Given the description of an element on the screen output the (x, y) to click on. 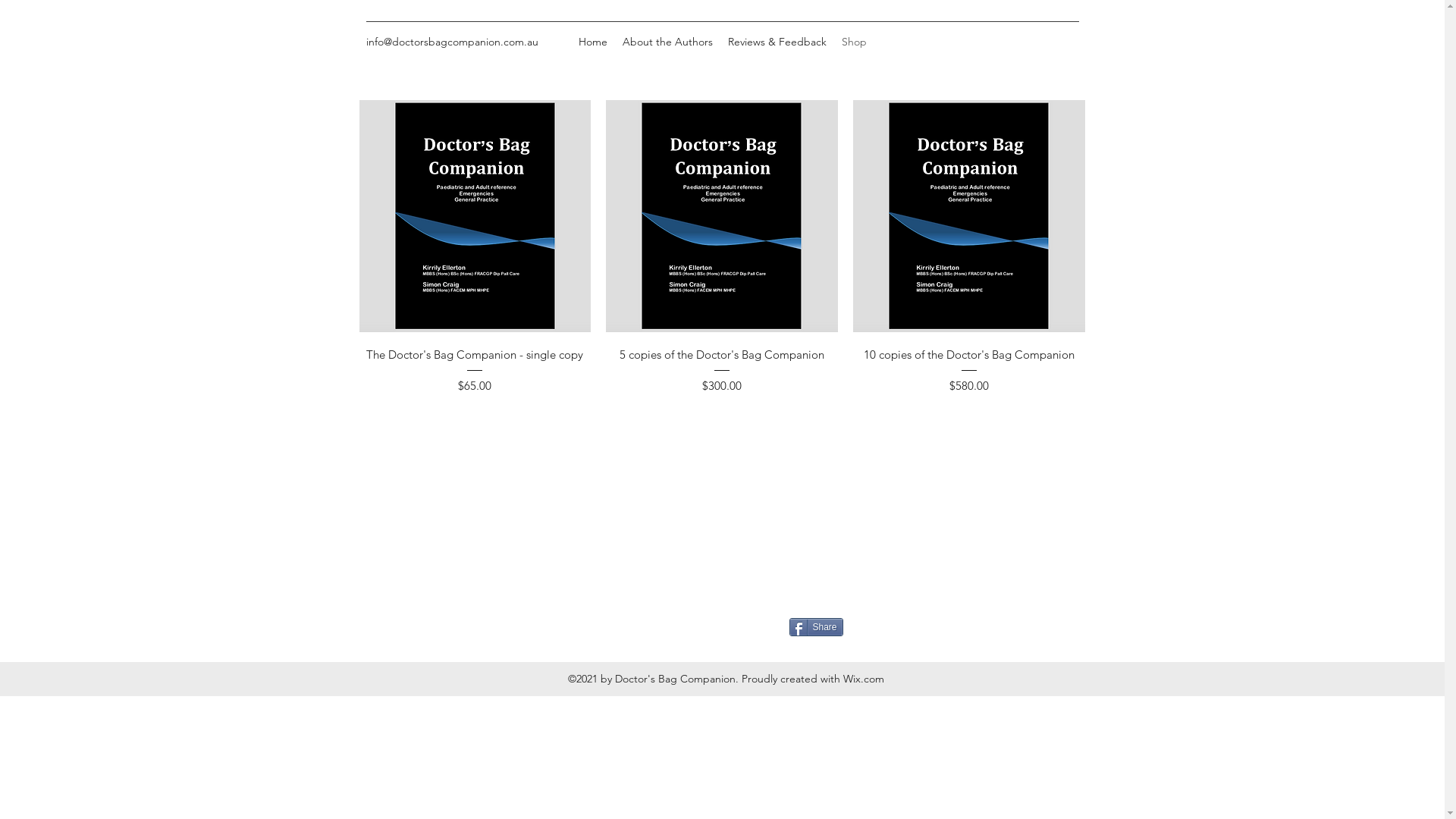
5 copies of the Doctor's Bag Companion
Price
$300.00 Element type: text (721, 369)
info@doctorsbagcompanion.com.au Element type: text (451, 41)
Shop Element type: text (854, 41)
Twitter Follow Element type: hover (633, 625)
Twitter Tweet Element type: hover (727, 625)
10 copies of the Doctor's Bag Companion
Price
$580.00 Element type: text (969, 369)
Home Element type: text (592, 41)
The Doctor's Bag Companion - single copy
Price
$65.00 Element type: text (475, 369)
Share Element type: text (815, 627)
About the Authors Element type: text (666, 41)
Reviews & Feedback Element type: text (777, 41)
